Given the description of an element on the screen output the (x, y) to click on. 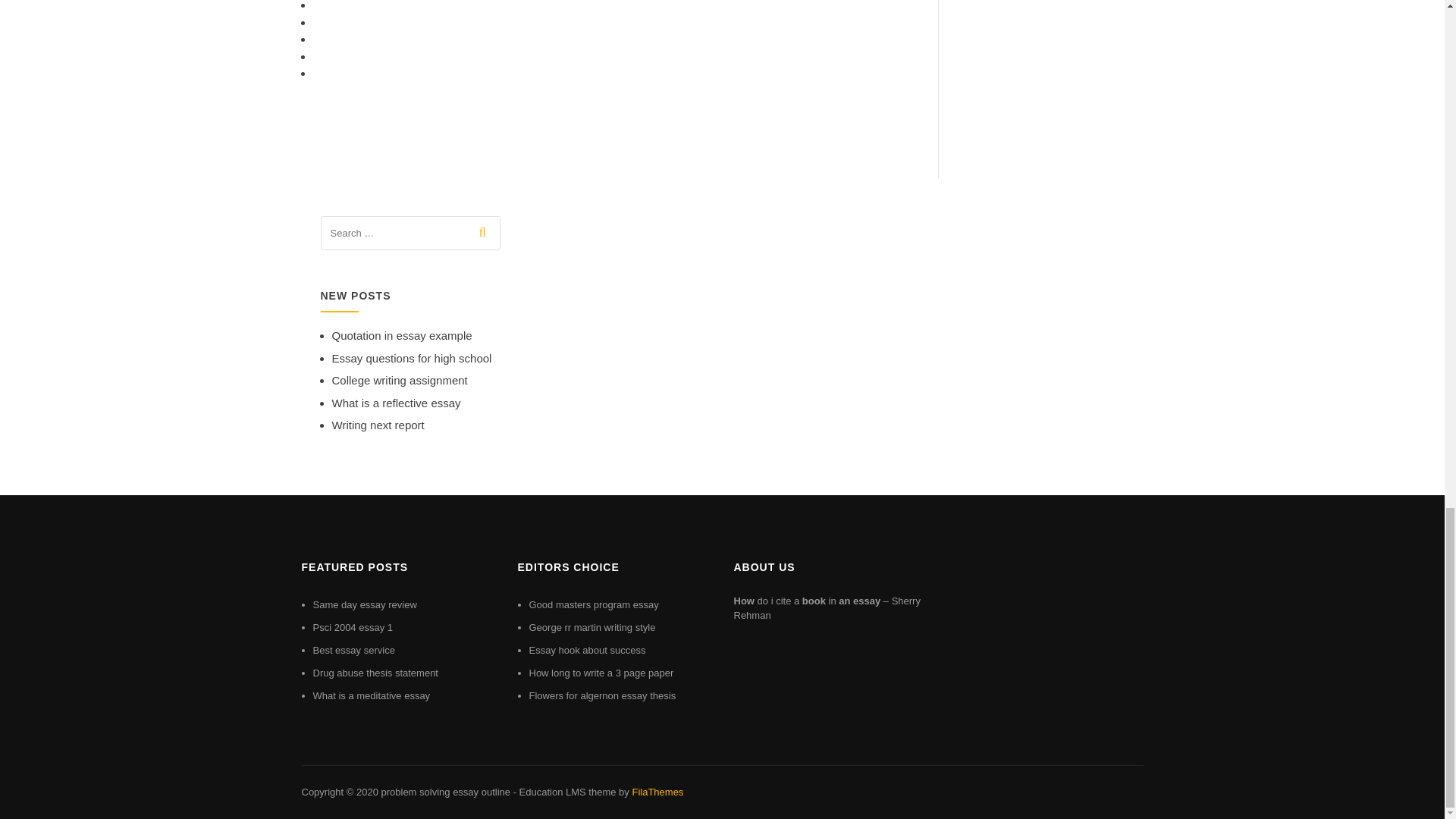
Flowers for algernon essay thesis (603, 695)
problem solving essay outline (445, 791)
College writing assignment (399, 379)
Essay hook about success (587, 650)
What is a meditative essay (371, 695)
Drug abuse thesis statement (375, 672)
Same day essay review (364, 604)
Good masters program essay (594, 604)
What is a reflective essay (396, 402)
problem solving essay outline (445, 791)
Psci 2004 essay 1 (353, 627)
George rr martin writing style (592, 627)
Best essay service (353, 650)
Quotation in essay example (401, 335)
Essay questions for high school (411, 358)
